Given the description of an element on the screen output the (x, y) to click on. 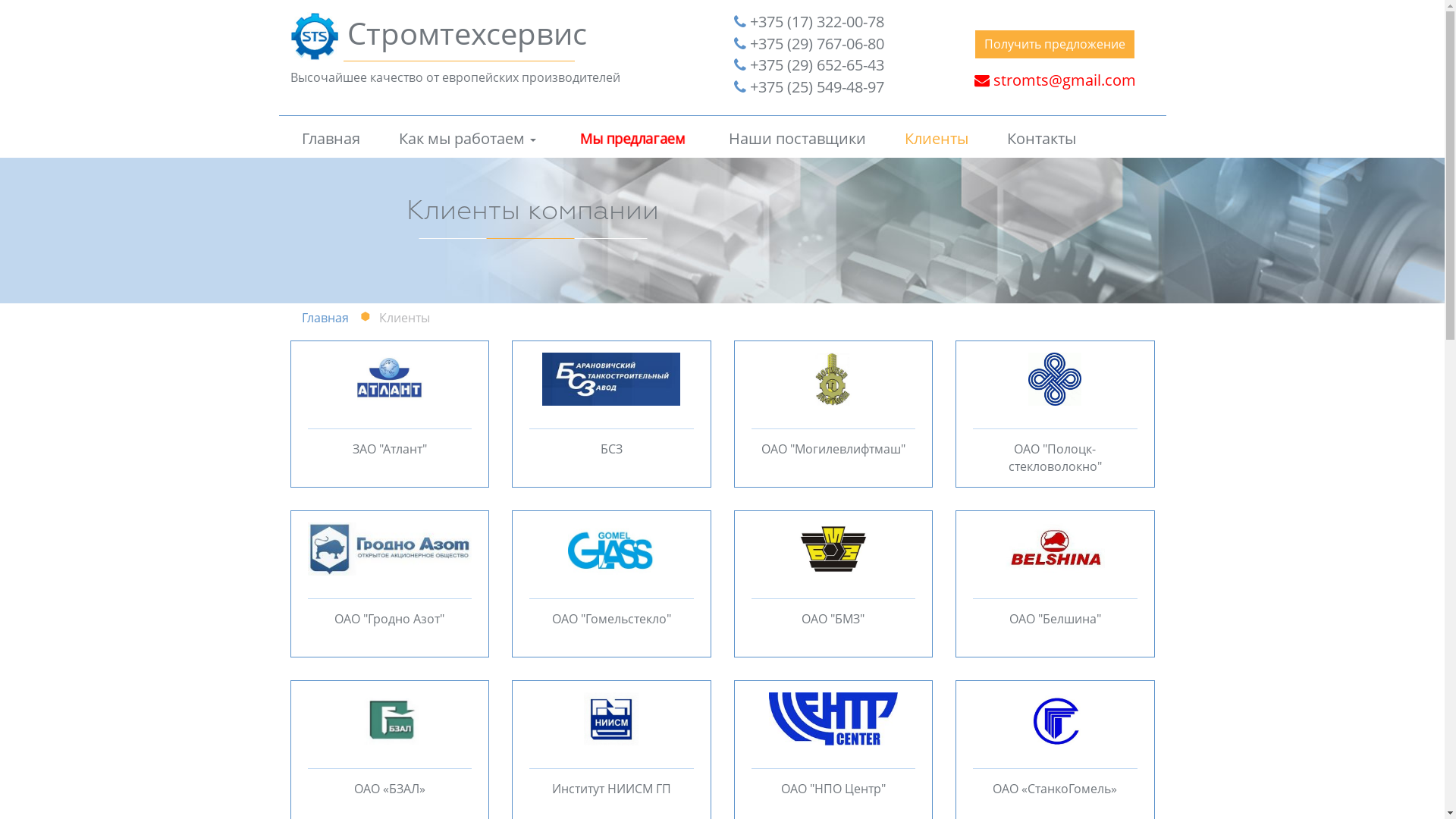
stromts@gmail.com Element type: text (1054, 79)
+375 (25) 549-48-97 Element type: text (809, 87)
+375 (29) 652-65-43 Element type: text (809, 65)
+375 (17) 322-00-78 Element type: text (809, 22)
+375 (29) 767-06-80 Element type: text (809, 44)
